Given the description of an element on the screen output the (x, y) to click on. 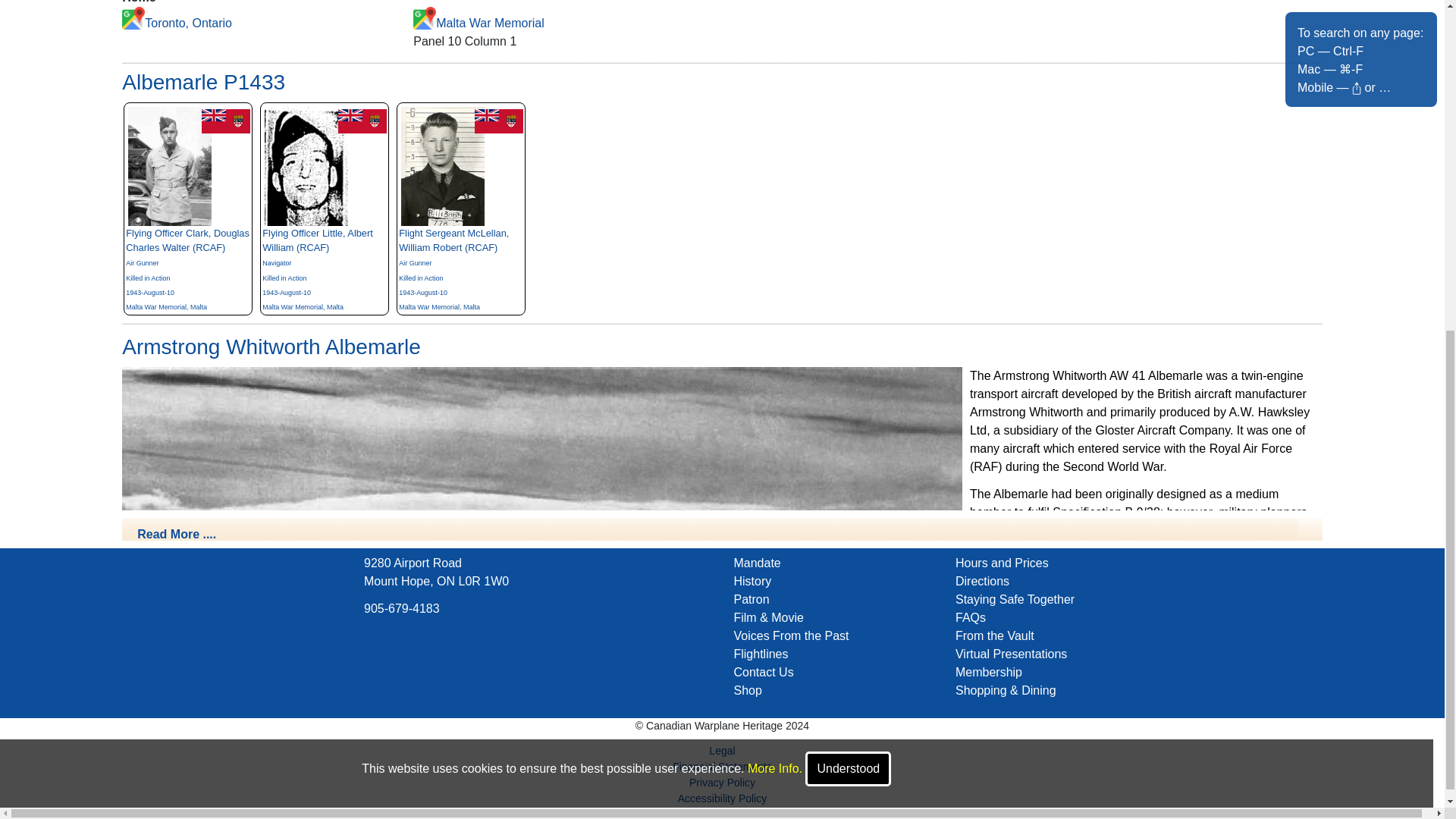
Click for Google Map (424, 17)
Click for Google Map (133, 17)
